Given the description of an element on the screen output the (x, y) to click on. 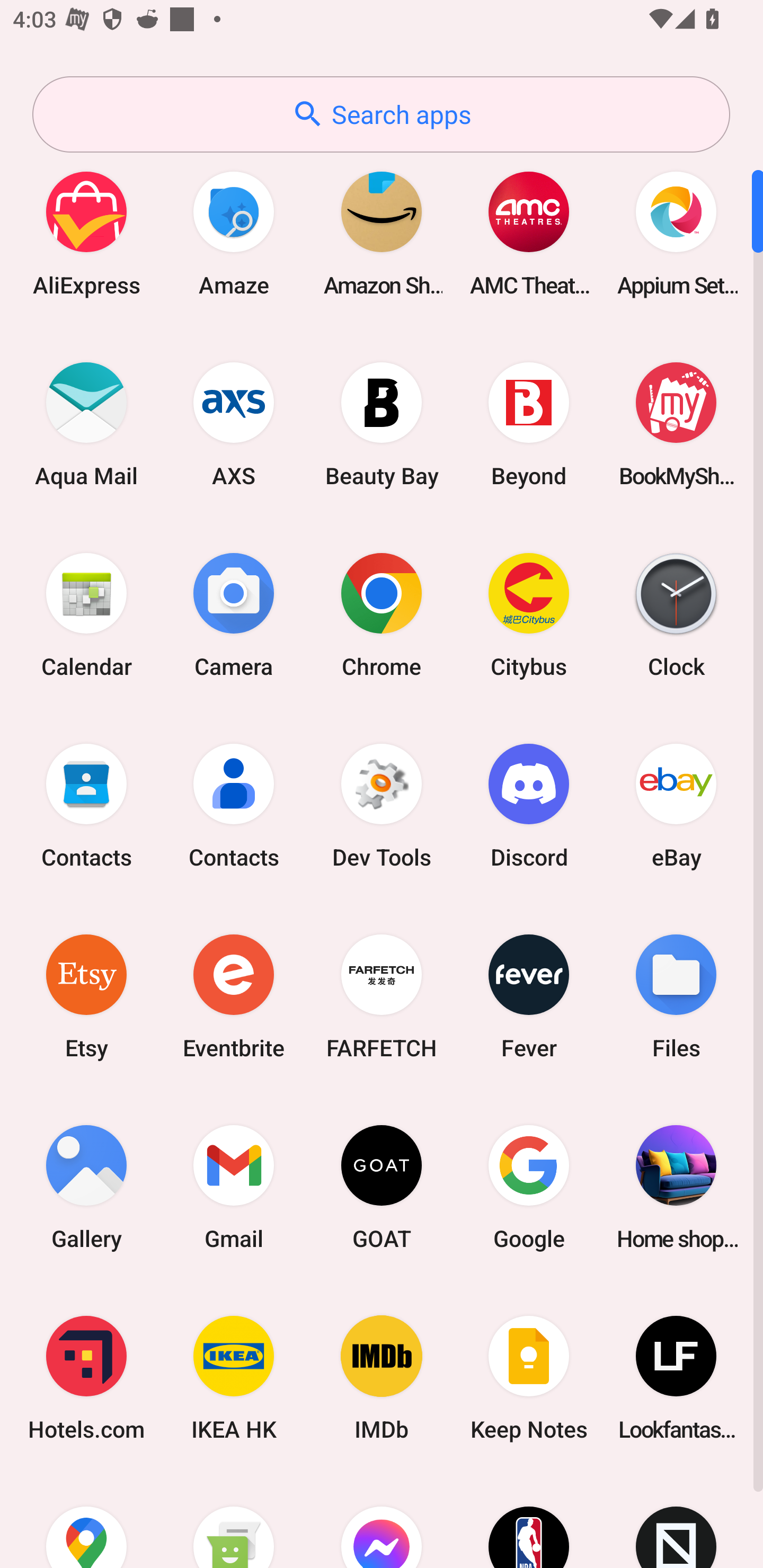
  Search apps (381, 114)
AliExpress (86, 233)
Amaze (233, 233)
Amazon Shopping (381, 233)
AMC Theatres (528, 233)
Appium Settings (676, 233)
Aqua Mail (86, 424)
AXS (233, 424)
Beauty Bay (381, 424)
Beyond (528, 424)
BookMyShow (676, 424)
Calendar (86, 614)
Camera (233, 614)
Chrome (381, 614)
Citybus (528, 614)
Clock (676, 614)
Contacts (86, 805)
Contacts (233, 805)
Dev Tools (381, 805)
Discord (528, 805)
eBay (676, 805)
Etsy (86, 996)
Eventbrite (233, 996)
FARFETCH (381, 996)
Fever (528, 996)
Files (676, 996)
Gallery (86, 1186)
Gmail (233, 1186)
GOAT (381, 1186)
Google (528, 1186)
Home shopping (676, 1186)
Hotels.com (86, 1377)
IKEA HK (233, 1377)
IMDb (381, 1377)
Keep Notes (528, 1377)
Lookfantastic (676, 1377)
